Given the description of an element on the screen output the (x, y) to click on. 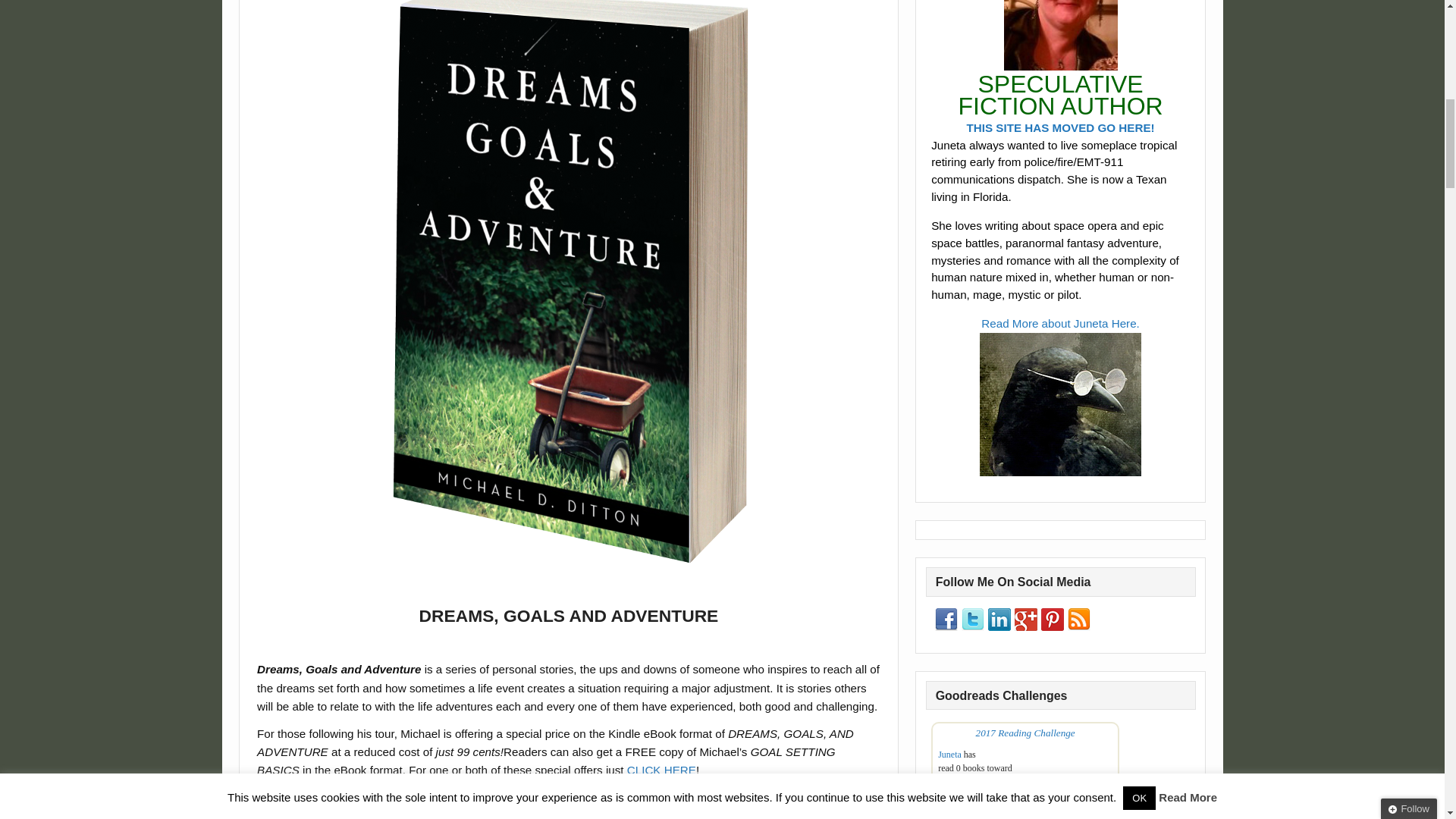
Email Address (1348, 112)
Sign me up! (1320, 140)
